Given the description of an element on the screen output the (x, y) to click on. 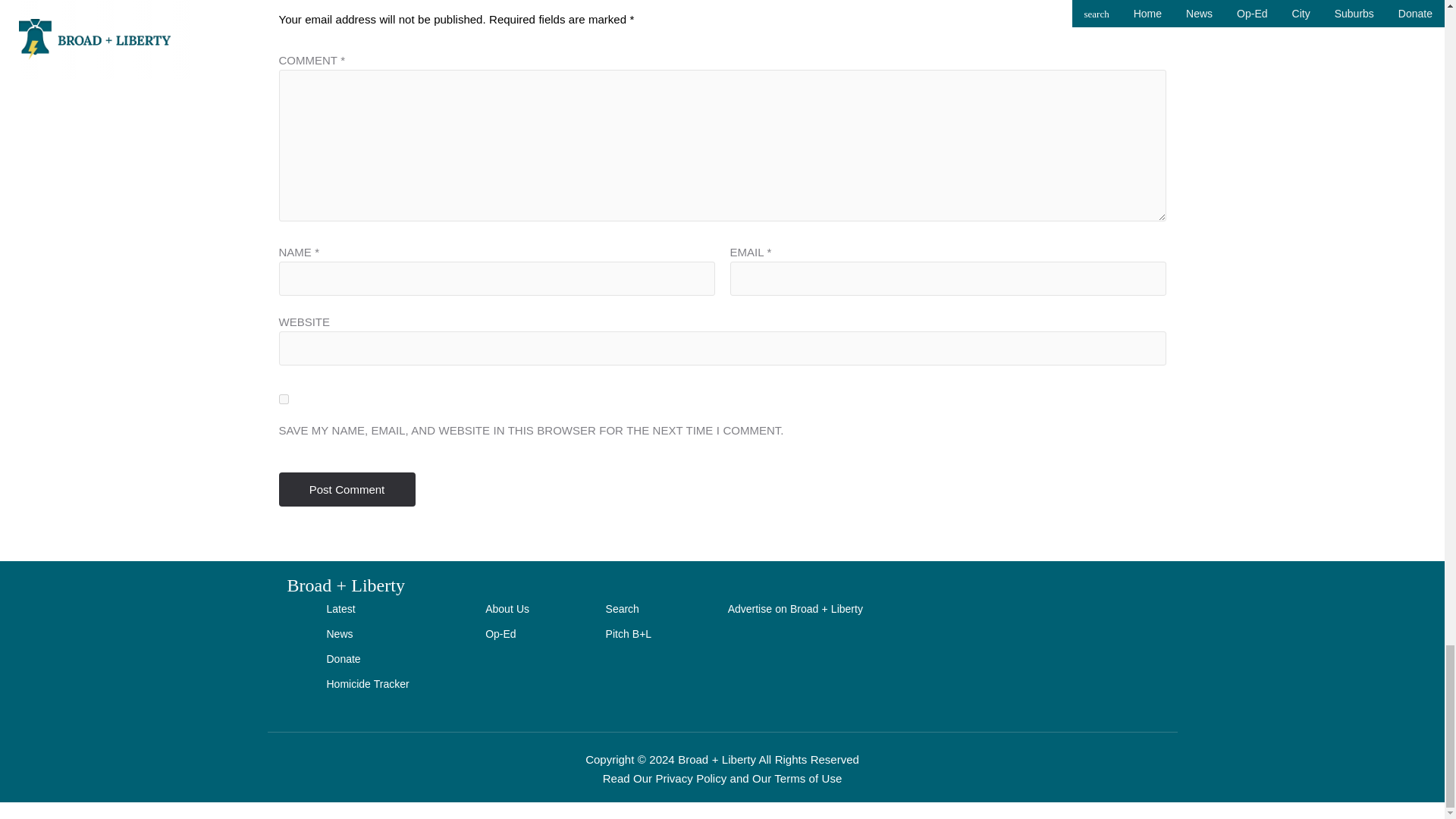
yes (283, 399)
Post Comment (346, 489)
Latest News (367, 612)
Homicide Tracker (367, 687)
News (367, 637)
